Given the description of an element on the screen output the (x, y) to click on. 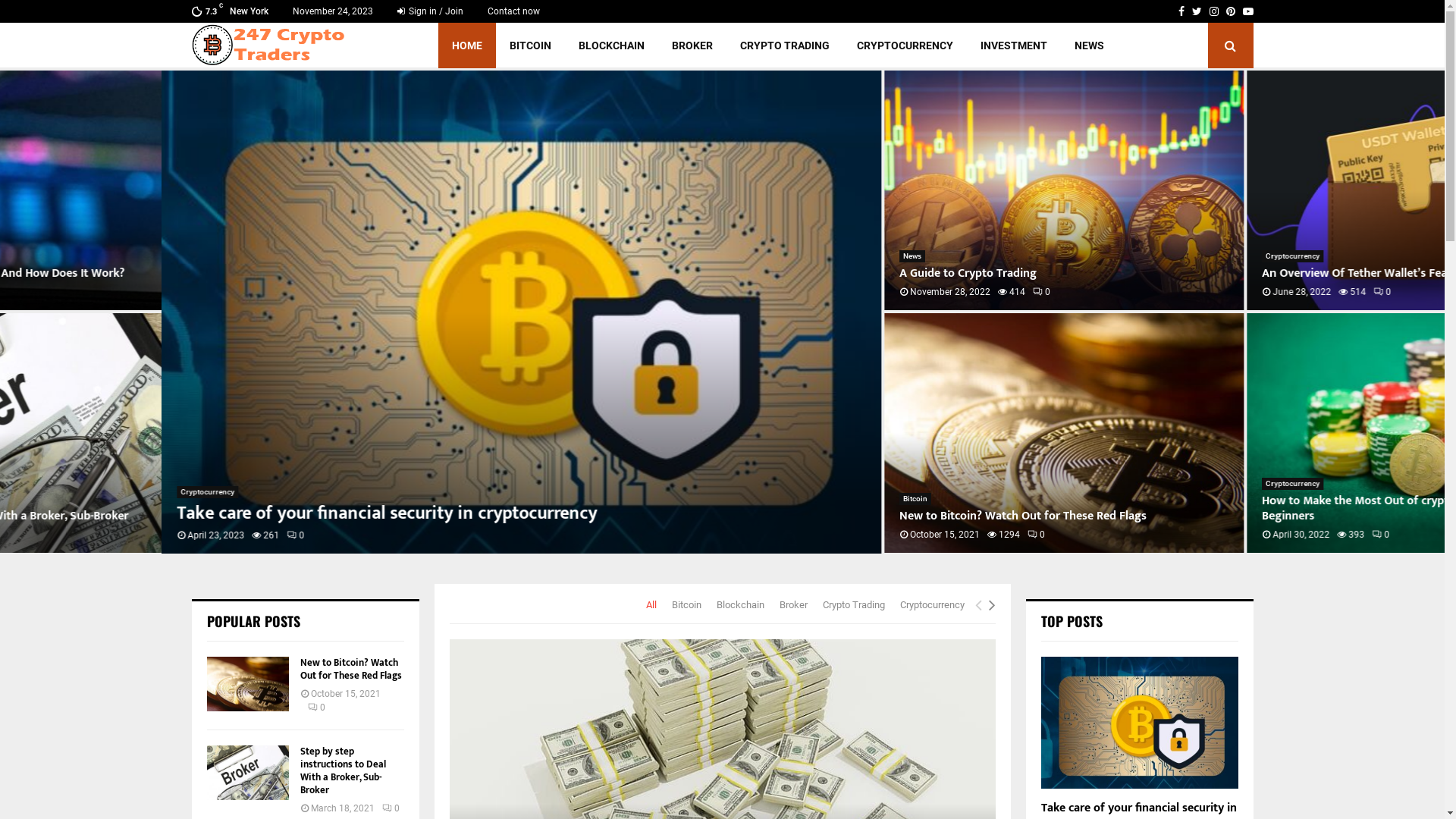
HOME Element type: text (466, 45)
Step by step instructions to Deal With a Broker, Sub-Broker Element type: hover (247, 772)
0 Element type: text (874, 534)
All Element type: text (651, 604)
Take care of your financial security in cryptocurrency Element type: hover (1138, 721)
Cryptocurrency Element type: text (45, 492)
News Element type: text (749, 256)
New to Bitcoin? Watch Out for These Red Flags Element type: hover (901, 432)
New to Bitcoin? Watch Out for These Red Flags Element type: text (860, 515)
Broker Element type: text (793, 604)
0 Element type: text (316, 707)
CRYPTOCURRENCY Element type: text (904, 45)
CRYPTO TRADING Element type: text (784, 45)
BROKER Element type: text (692, 45)
Facebook Element type: text (1181, 11)
Cryptocurrency Element type: text (931, 604)
Take care of your financial security in cryptocurrency Element type: hover (359, 311)
New to Bitcoin? Watch Out for These Red Flags Element type: text (350, 669)
Crypto Trading Element type: text (853, 604)
Bitcoin Element type: text (752, 498)
A Guide to Crypto Trading Element type: hover (901, 190)
Sign up new account Element type: text (722, 527)
0 Element type: text (1218, 534)
Blockchain Element type: text (739, 604)
BLOCKCHAIN Element type: text (611, 45)
Step by step instructions to Deal With a Broker, Sub-Broker Element type: text (342, 770)
0 Element type: text (390, 808)
BITCOIN Element type: text (529, 45)
0 Element type: text (1220, 291)
Bitcoin Element type: text (686, 604)
Take care of your financial security in cryptocurrency Element type: text (225, 513)
Instagram Element type: text (1212, 11)
NEWS Element type: text (1088, 45)
Cryptocurrency Element type: text (1130, 483)
Contact now Element type: text (512, 11)
Sign in / Join Element type: text (430, 11)
A Guide to Crypto Trading Element type: text (805, 273)
New to Bitcoin? Watch Out for These Red Flags Element type: hover (247, 683)
Login to your account Element type: text (722, 293)
Cryptocurrency Element type: text (1130, 256)
Pinterest Element type: text (1229, 11)
Twitter Element type: text (1196, 11)
0 Element type: text (879, 291)
Youtube Element type: text (1247, 11)
INVESTMENT Element type: text (1013, 45)
0 Element type: text (133, 535)
